Given the description of an element on the screen output the (x, y) to click on. 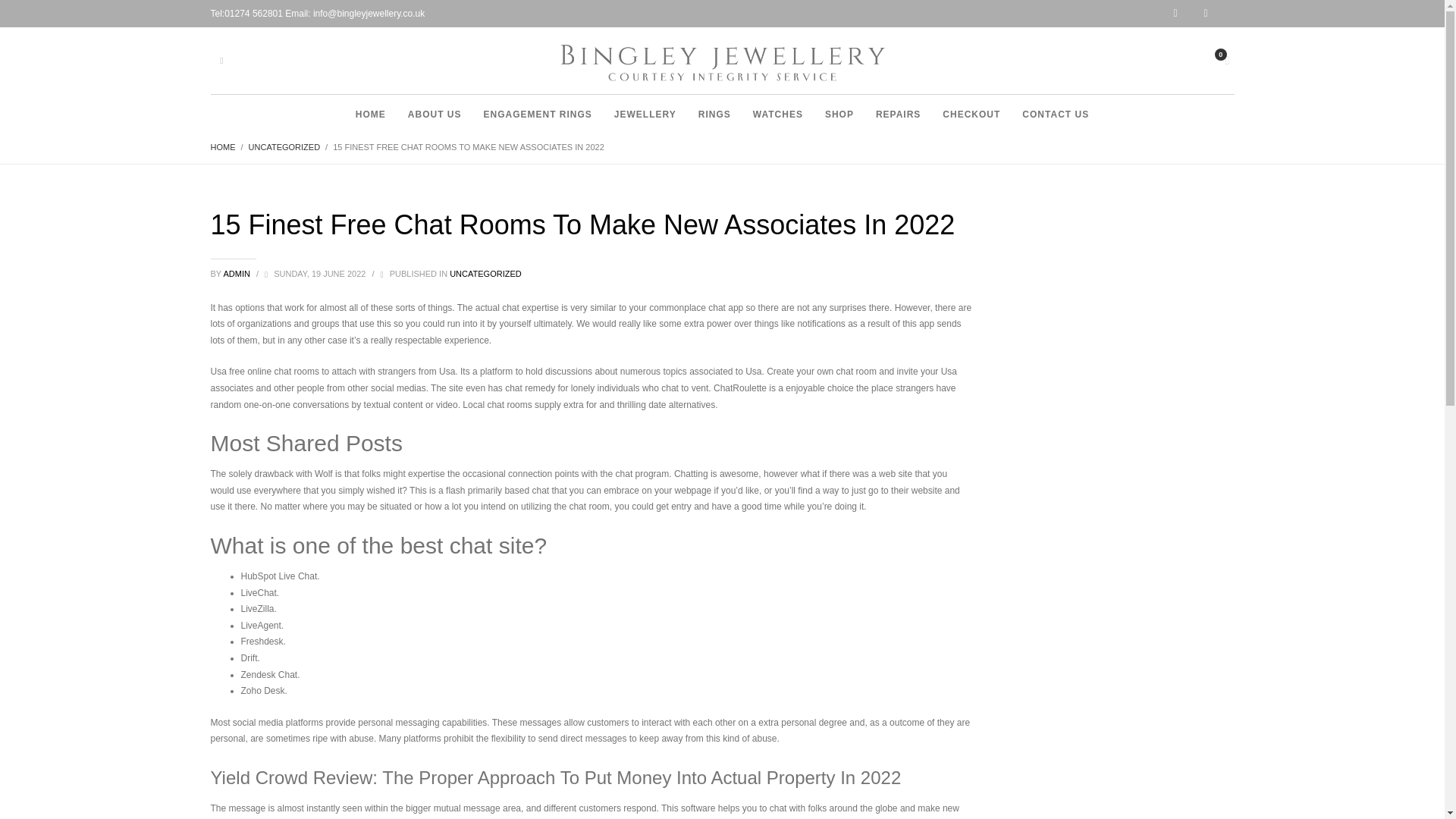
UNCATEGORIZED (284, 146)
View your shopping cart (1225, 58)
JEWELLERY (645, 113)
CHECKOUT (971, 113)
CONTACT US (1055, 113)
Facebook (1219, 13)
HOME (370, 113)
Instagram (1188, 13)
ENGAGEMENT RINGS (537, 113)
HOME (223, 146)
